Given the description of an element on the screen output the (x, y) to click on. 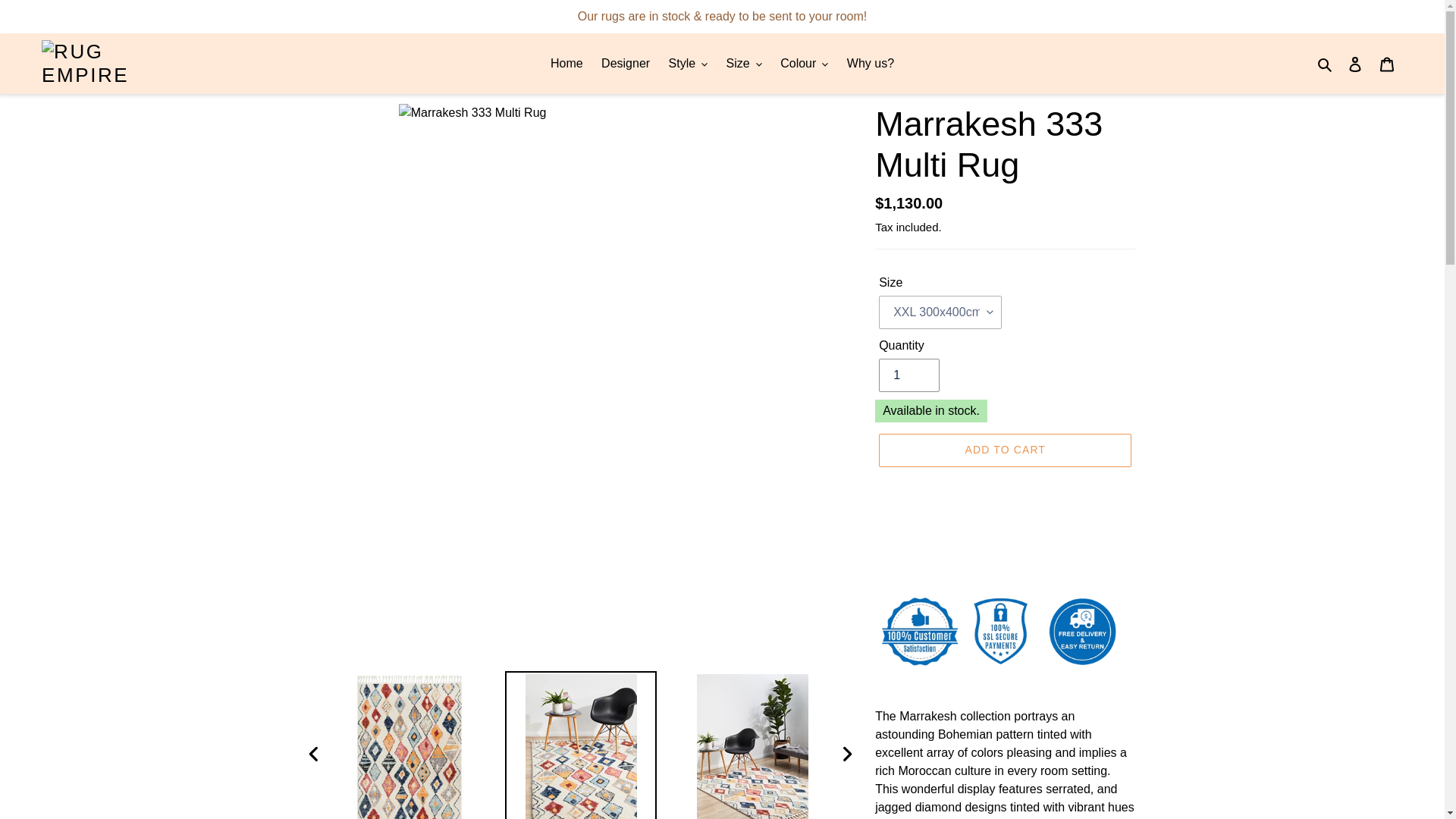
Designer (626, 63)
Size (744, 63)
1 (909, 375)
Home (567, 63)
Home (75, 8)
Style (688, 63)
